Given the description of an element on the screen output the (x, y) to click on. 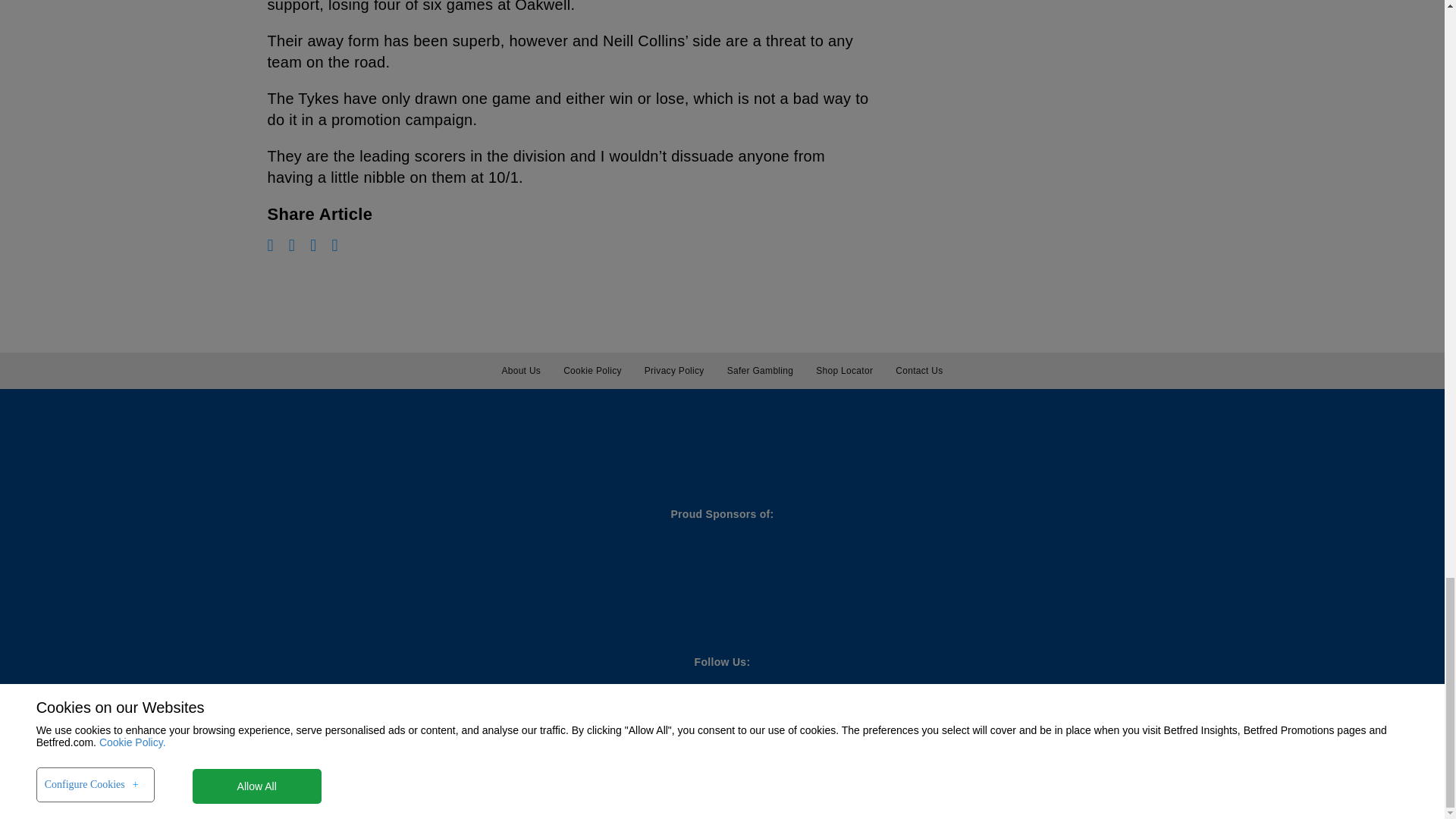
Instagram (312, 245)
WhatsApp (269, 245)
betfred sponsorship rgb footer british masters (551, 575)
X (334, 245)
betfred sponsorship rgb footer world matchplay (175, 575)
betfred sponsorship rgb footer man utd (363, 575)
betfred sponsorship rgb footer oaks (975, 575)
Facebook (291, 245)
betfred sponsorship rgb footer ascot (711, 575)
betfred sponsorship rgb footer derby (843, 575)
